Given the description of an element on the screen output the (x, y) to click on. 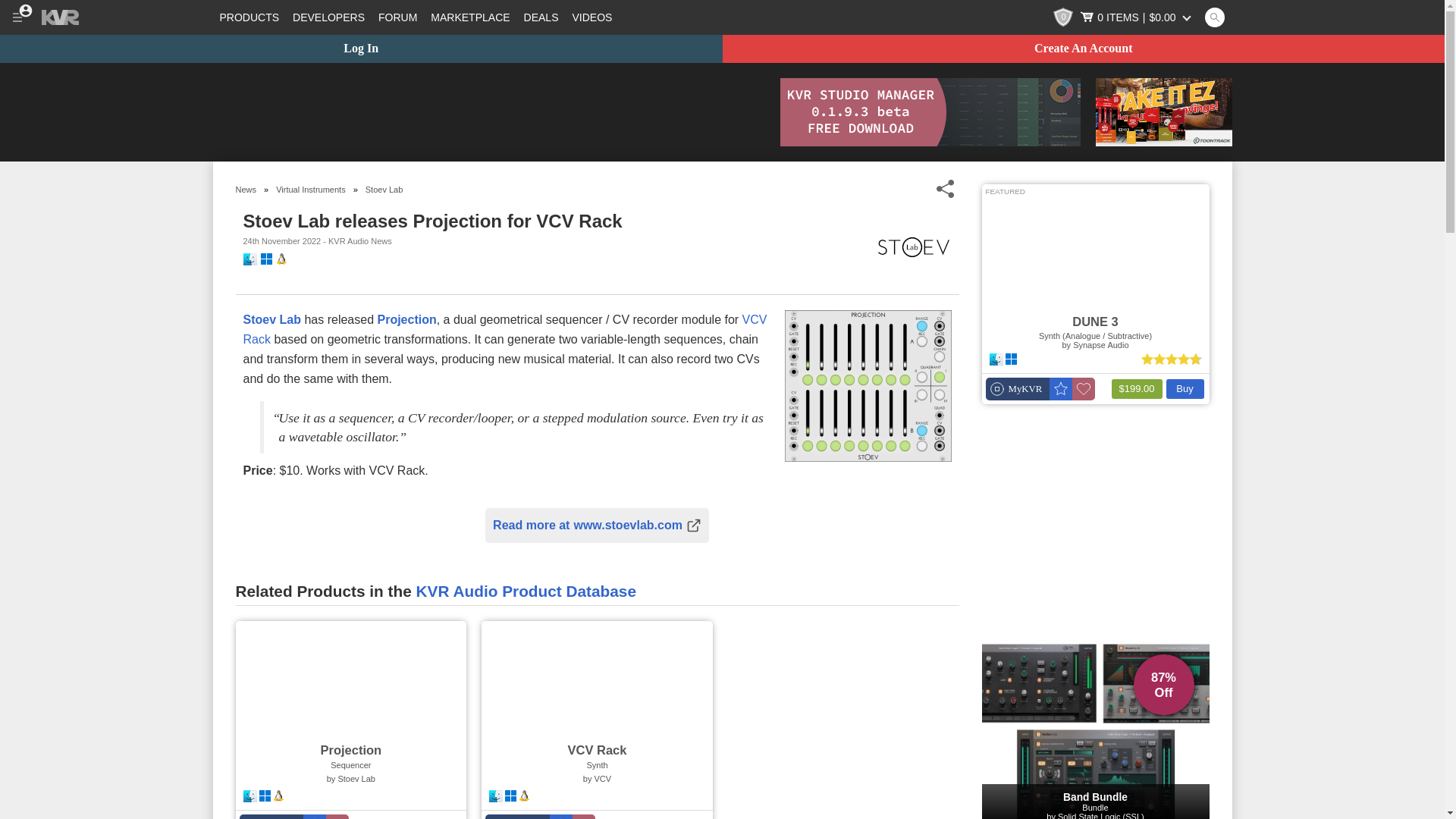
Posts by KVR Audio News (360, 240)
macOS (249, 259)
Share This (945, 189)
Toontrack - Take-It-EZ (1162, 111)
Cart (1136, 17)
